Given the description of an element on the screen output the (x, y) to click on. 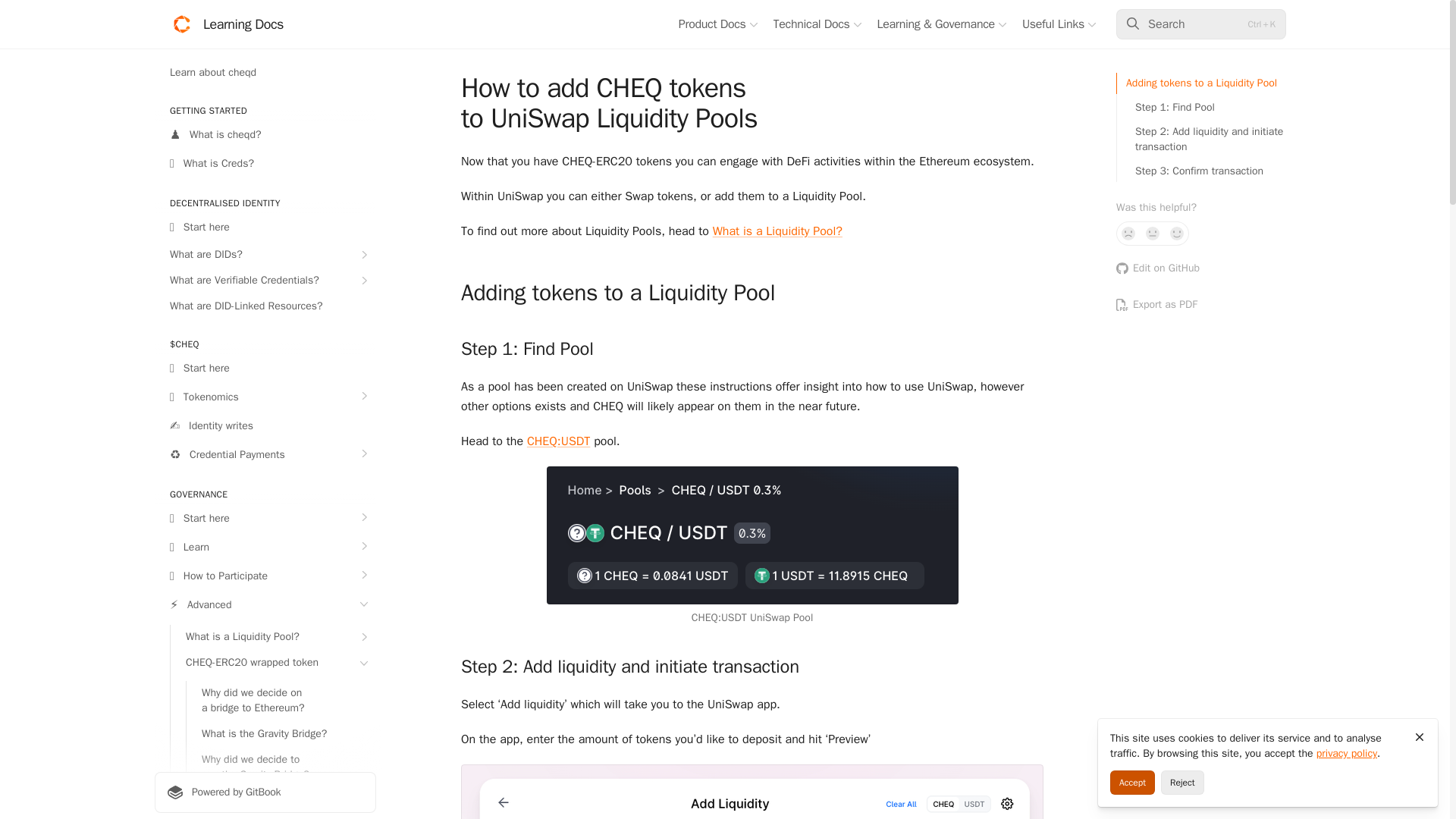
No (1128, 233)
Technical Docs (817, 24)
What are Verifiable Credentials? (264, 280)
Close (1419, 737)
Not sure (1152, 233)
Yes, it was! (1176, 233)
What are DIDs? (264, 254)
Learning Docs (226, 24)
Useful Links (1059, 24)
Learn about cheqd (264, 72)
